Given the description of an element on the screen output the (x, y) to click on. 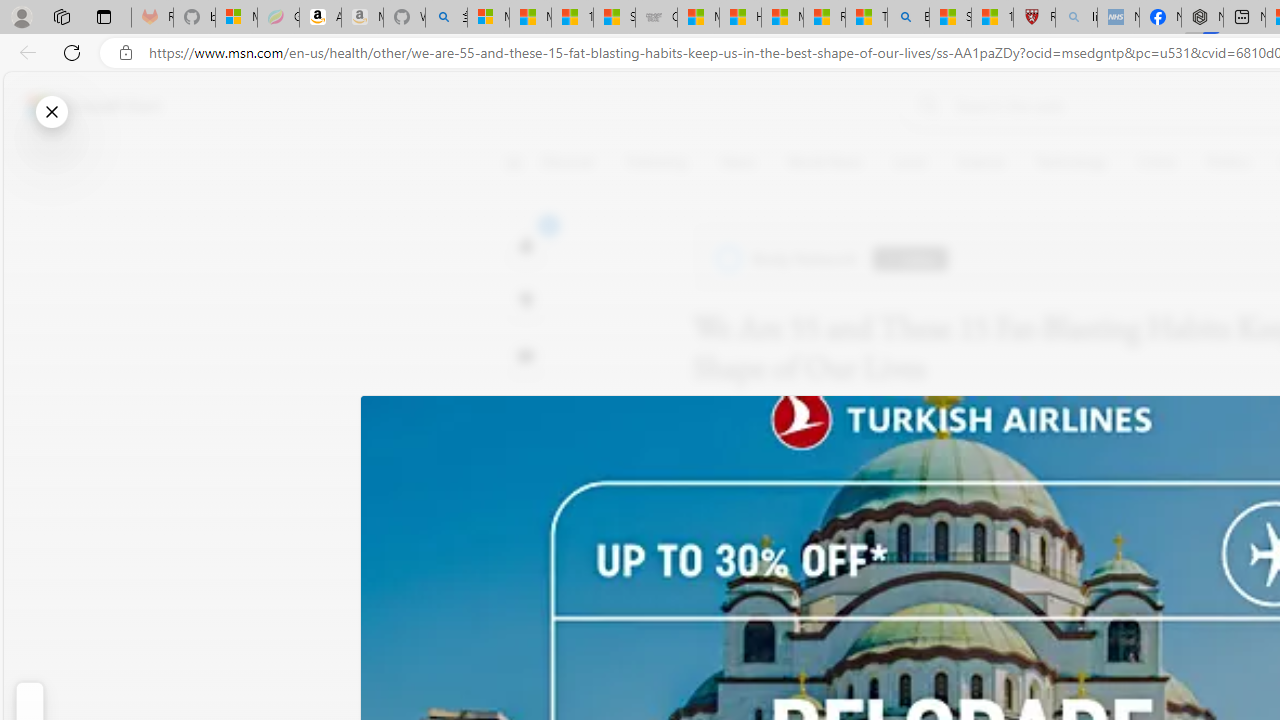
Follow (909, 258)
Class: at-item (525, 468)
